Given the description of an element on the screen output the (x, y) to click on. 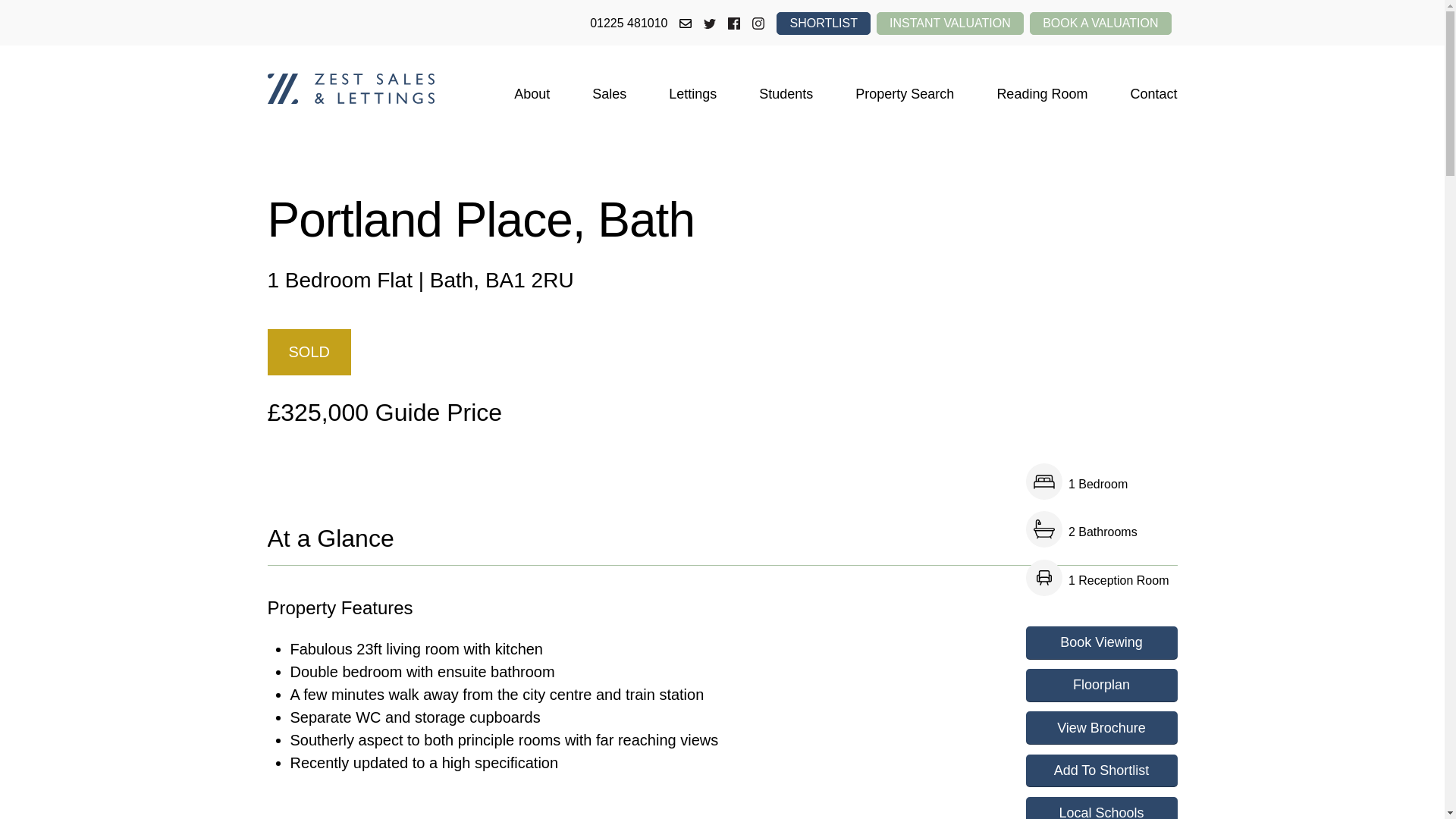
Students (785, 93)
Book Viewing (1100, 643)
INSTANT VALUATION (949, 23)
SHORTLIST (823, 23)
About (531, 93)
Lettings (692, 93)
Reading Room (1041, 93)
01225 481010 (627, 24)
Contact (1152, 93)
Property Search (904, 93)
Sales (609, 93)
